Given the description of an element on the screen output the (x, y) to click on. 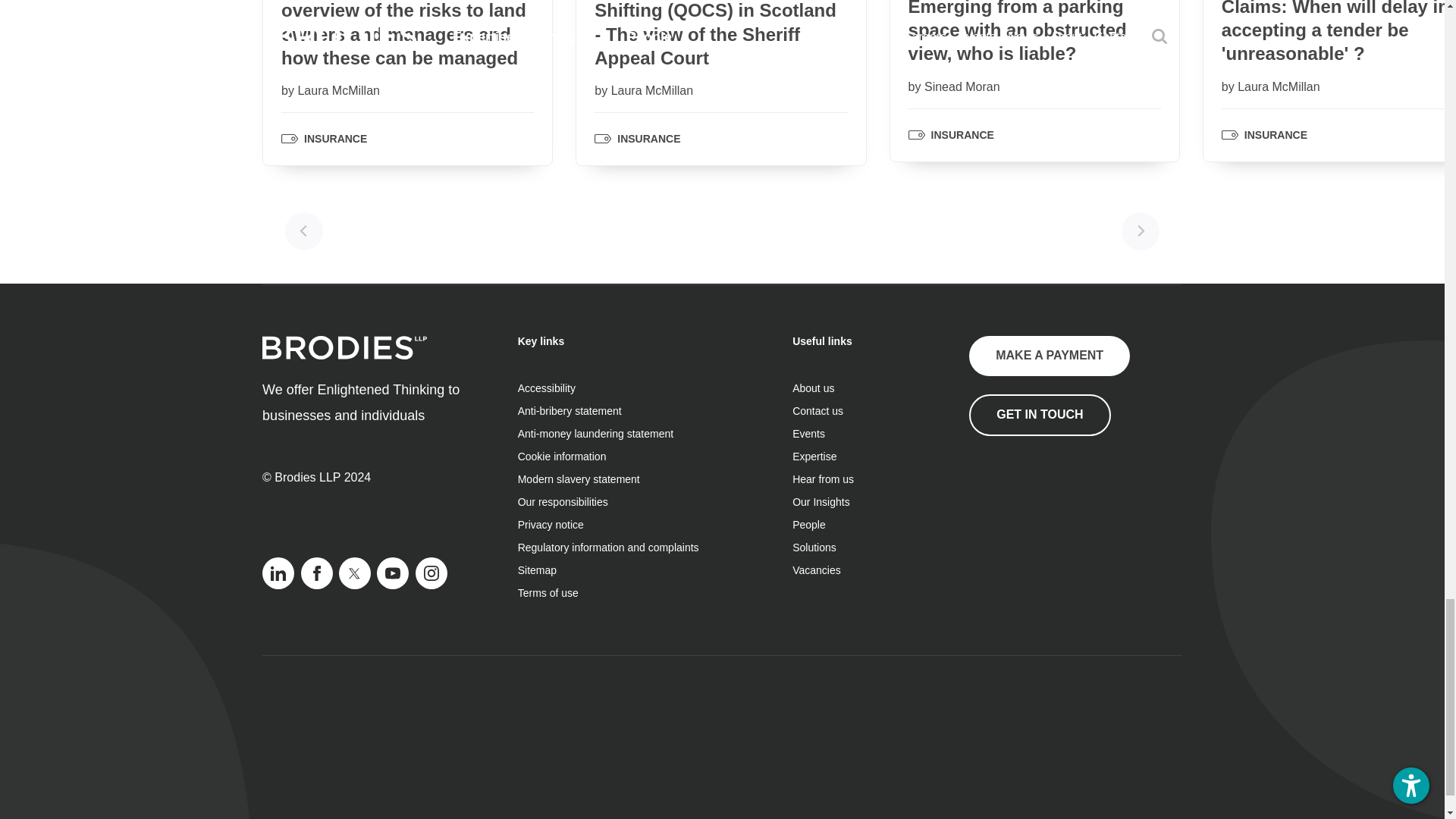
Solicitors Regulation Authority link (1045, 511)
Brodies (344, 347)
Click to return to the homepage (344, 354)
